Given the description of an element on the screen output the (x, y) to click on. 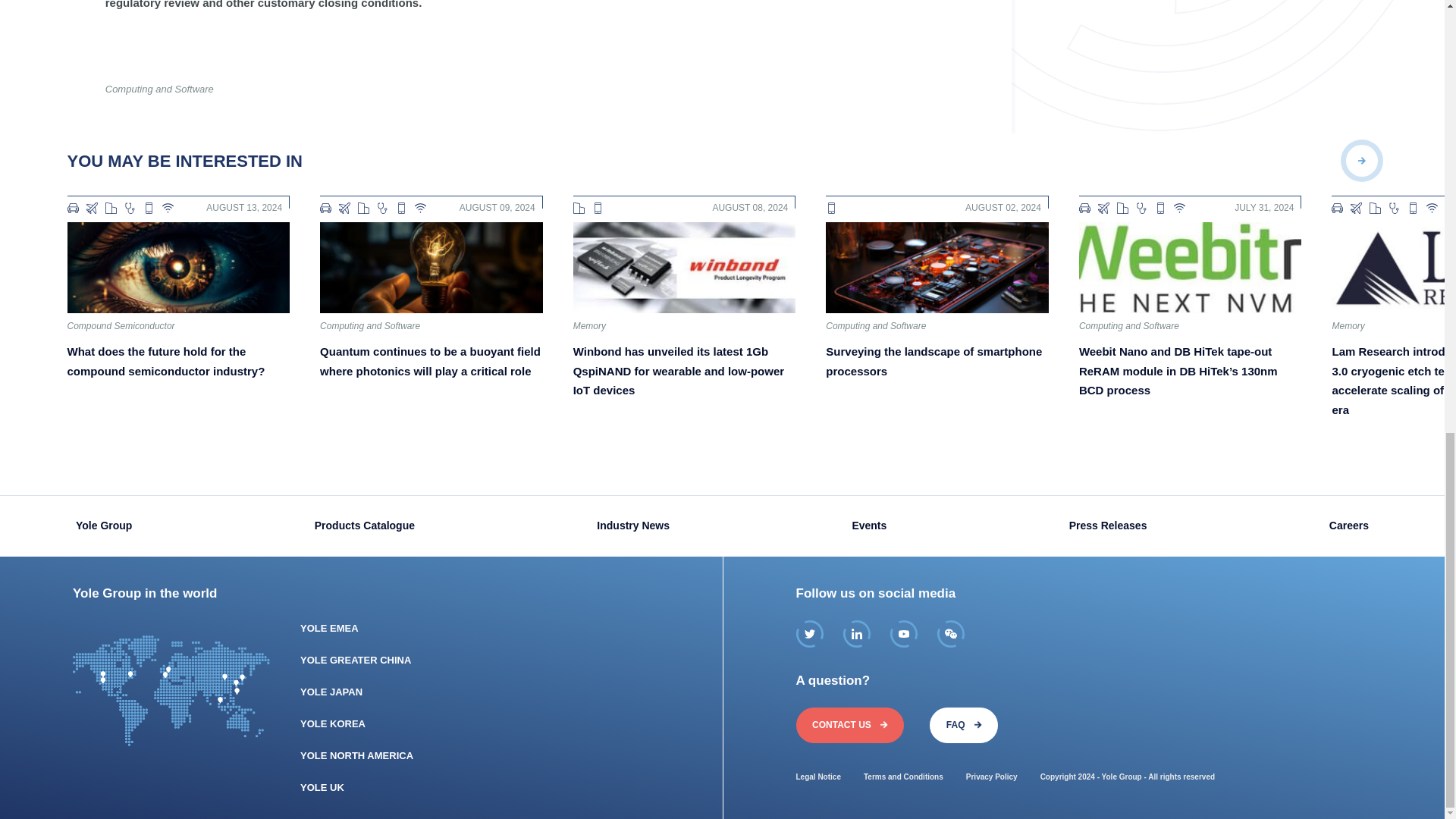
Follow us on linkedin (856, 633)
Follow us on wechat (950, 633)
Follow us on twitter (810, 633)
Follow us on youtube (903, 633)
